Given the description of an element on the screen output the (x, y) to click on. 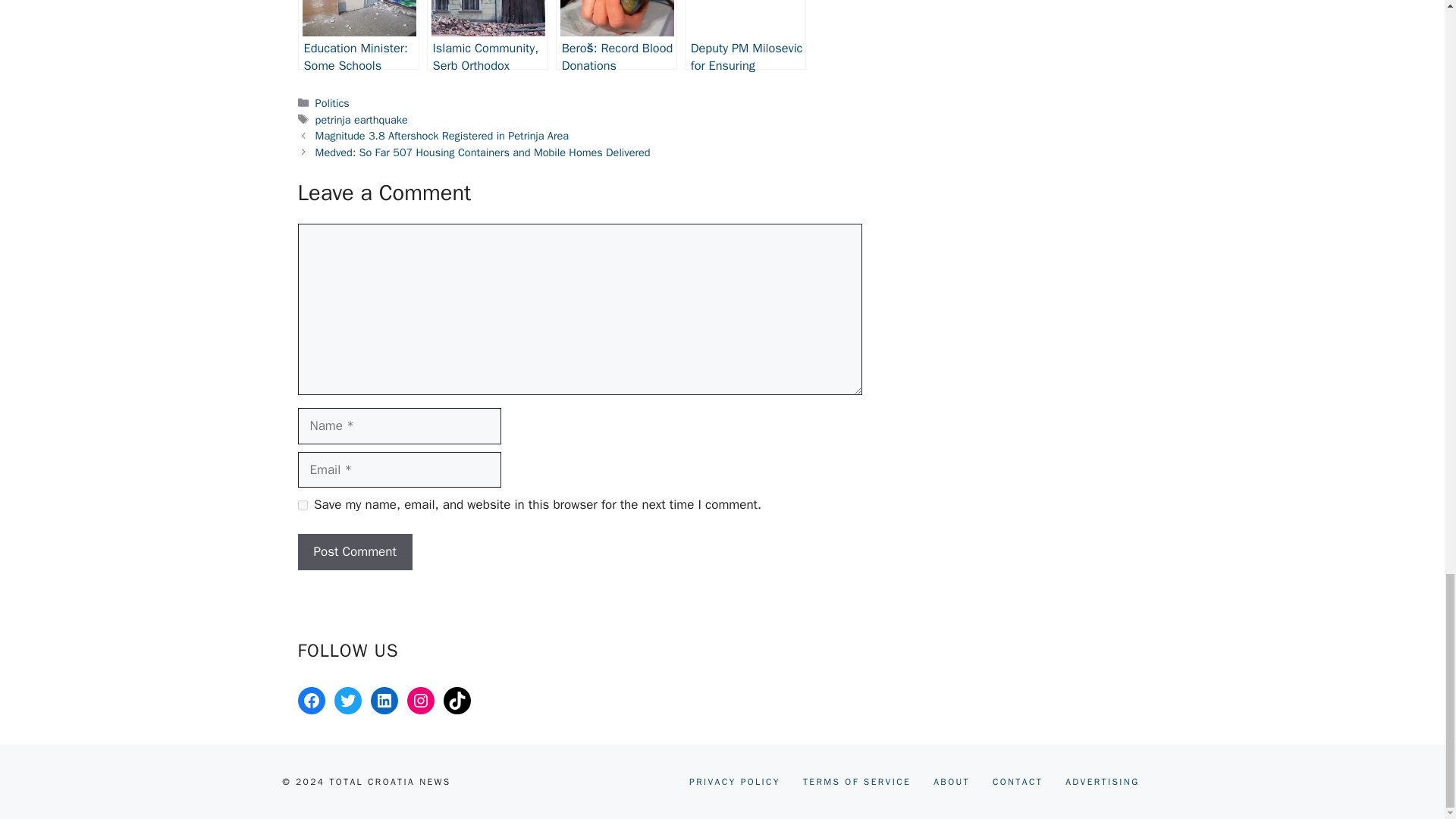
Post Comment (354, 551)
yes (302, 505)
